Given the description of an element on the screen output the (x, y) to click on. 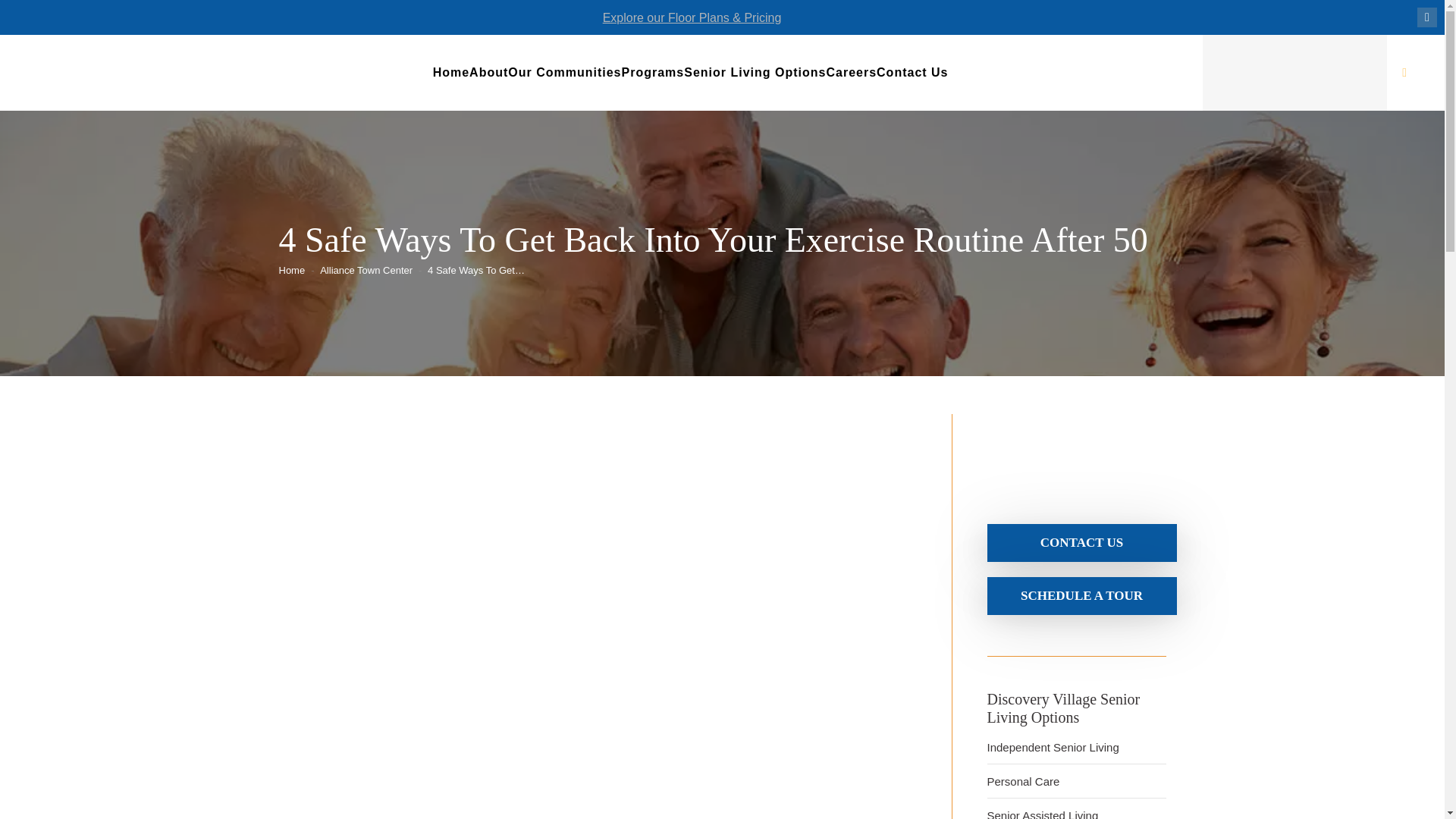
Discovery Village Main Logo (1075, 455)
Facebook page opens in new window (1426, 17)
Facebook page opens in new window (1426, 17)
Contact Discovery Village (1081, 542)
Contact Discovery Village (1081, 594)
Senior Living Options (754, 72)
Our Communities (564, 72)
